Given the description of an element on the screen output the (x, y) to click on. 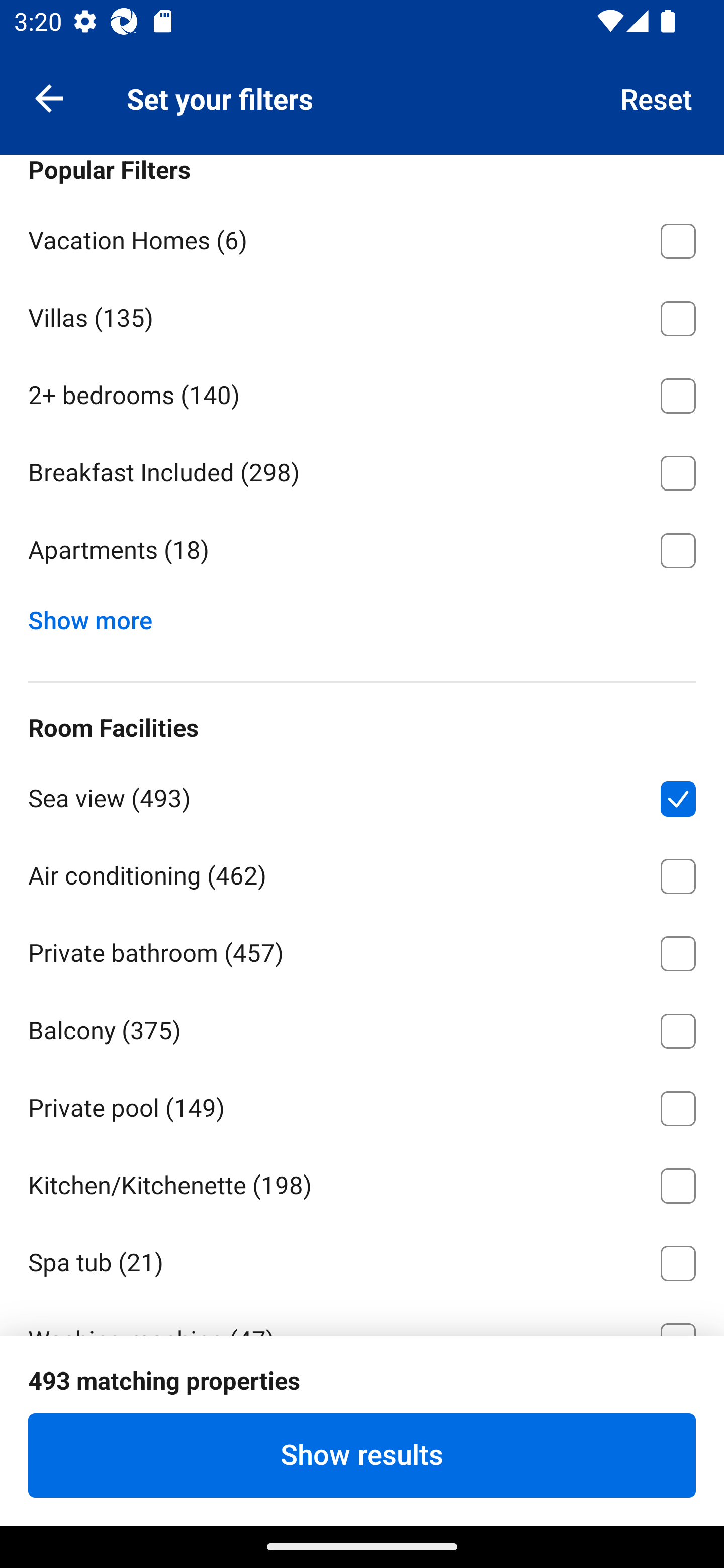
Navigate up (49, 97)
Reset (656, 97)
Vacation Homes ⁦(6) (361, 237)
Villas ⁦(135) (361, 314)
2+ bedrooms ⁦(140) (361, 392)
Breakfast Included ⁦(298) (361, 469)
Apartments ⁦(18) (361, 550)
Show more (97, 615)
Sea view ⁦(493) (361, 795)
Air conditioning ⁦(462) (361, 872)
Private bathroom ⁦(457) (361, 950)
Balcony ⁦(375) (361, 1027)
Private pool ⁦(149) (361, 1104)
Kitchen/Kitchenette ⁦(198) (361, 1182)
Spa tub ⁦(21) (361, 1259)
Show results (361, 1454)
